Given the description of an element on the screen output the (x, y) to click on. 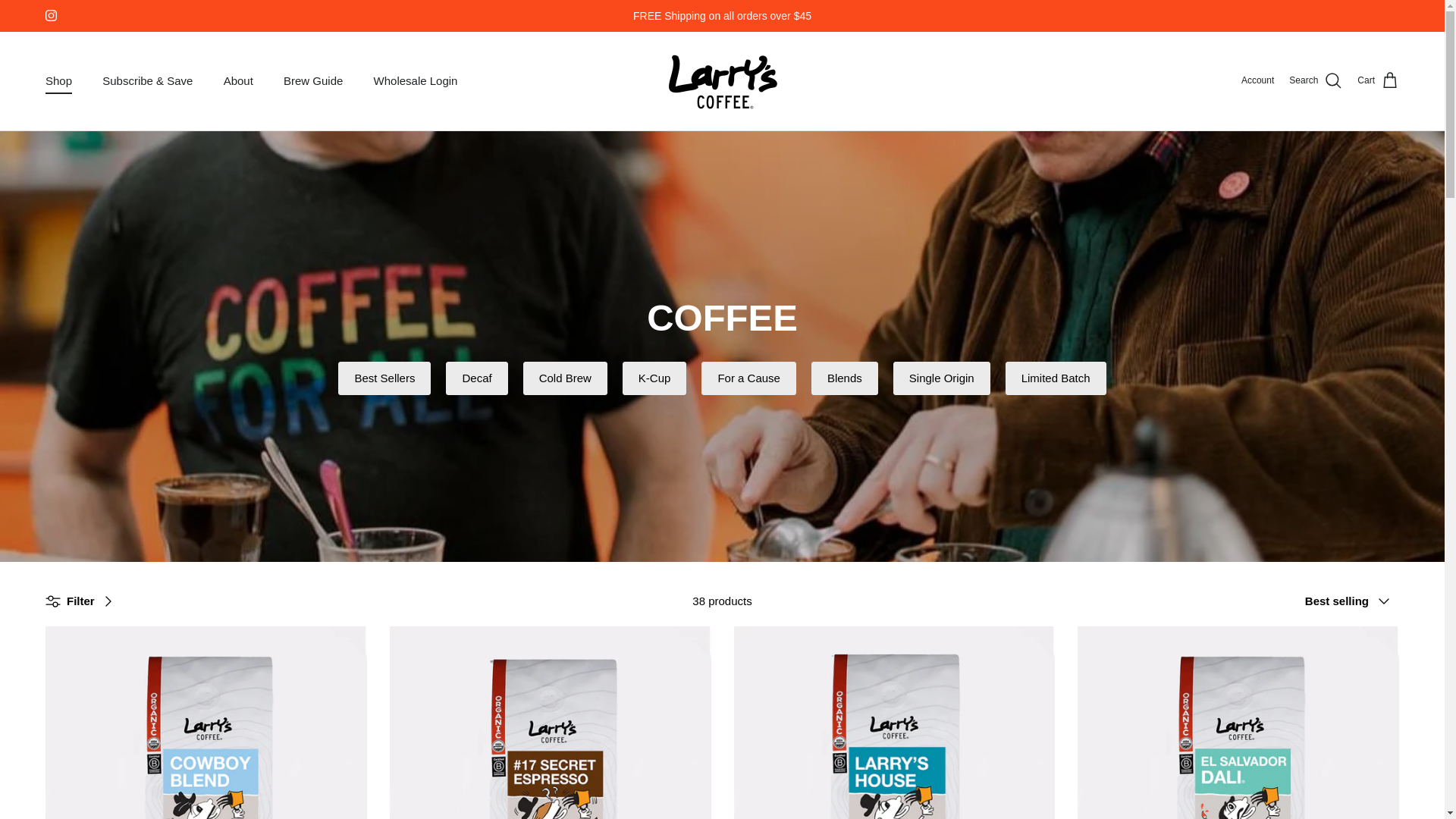
Larry's Coffee on Instagram (50, 15)
Wholesale Login (415, 81)
Cart (1377, 80)
About (237, 81)
Search (1315, 80)
Account (1257, 80)
Brew Guide (312, 81)
Instagram (50, 15)
Larry's Coffee (721, 80)
Shop (58, 81)
